Given the description of an element on the screen output the (x, y) to click on. 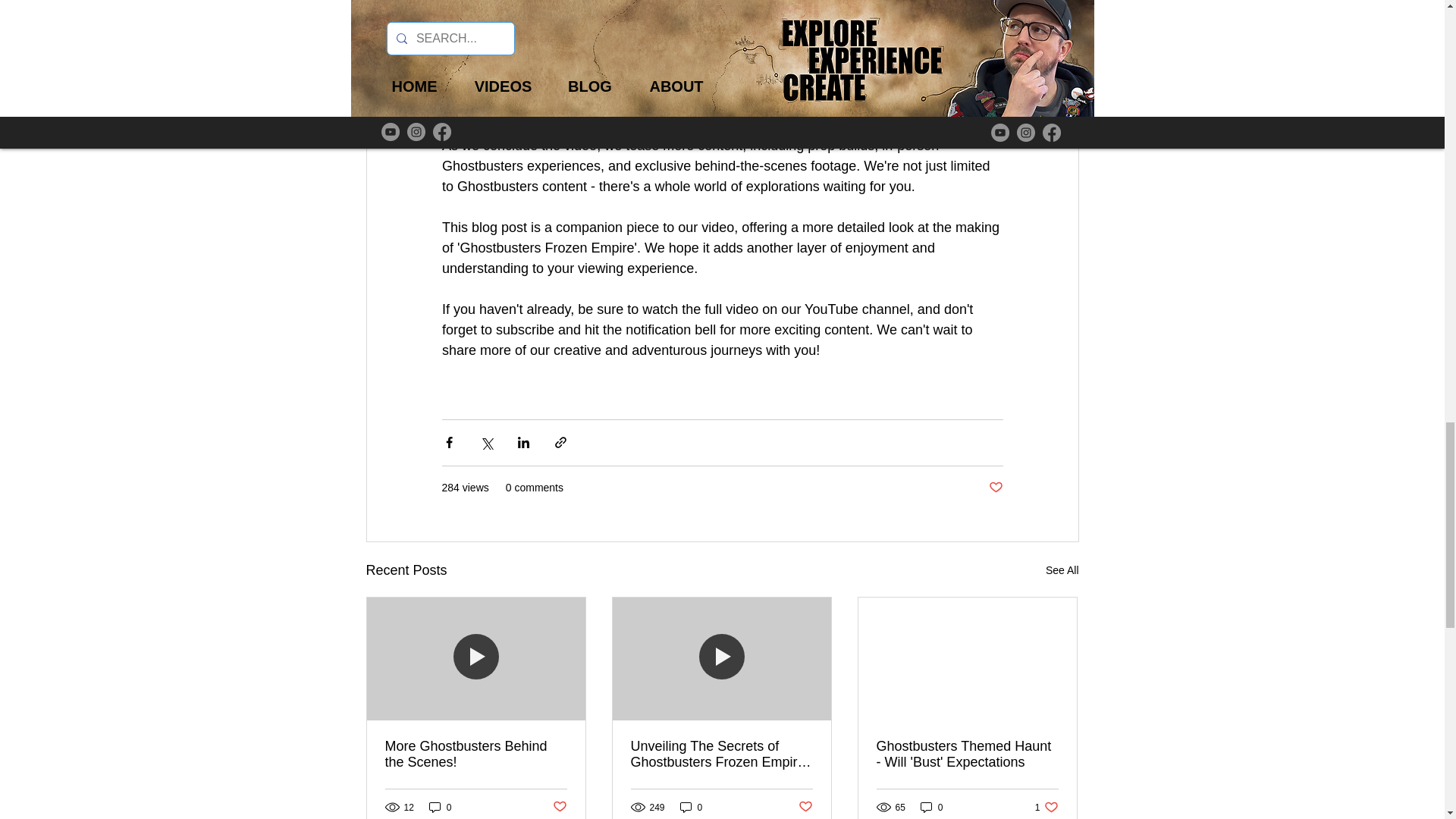
0 (440, 807)
See All (1061, 570)
Post not marked as liked (804, 806)
Ghostbusters Themed Haunt - Will 'Bust' Expectations (967, 754)
Post not marked as liked (995, 487)
More Ghostbusters Behind the Scenes! (476, 754)
0 (691, 807)
0 (931, 807)
Post not marked as liked (558, 806)
